Given the description of an element on the screen output the (x, y) to click on. 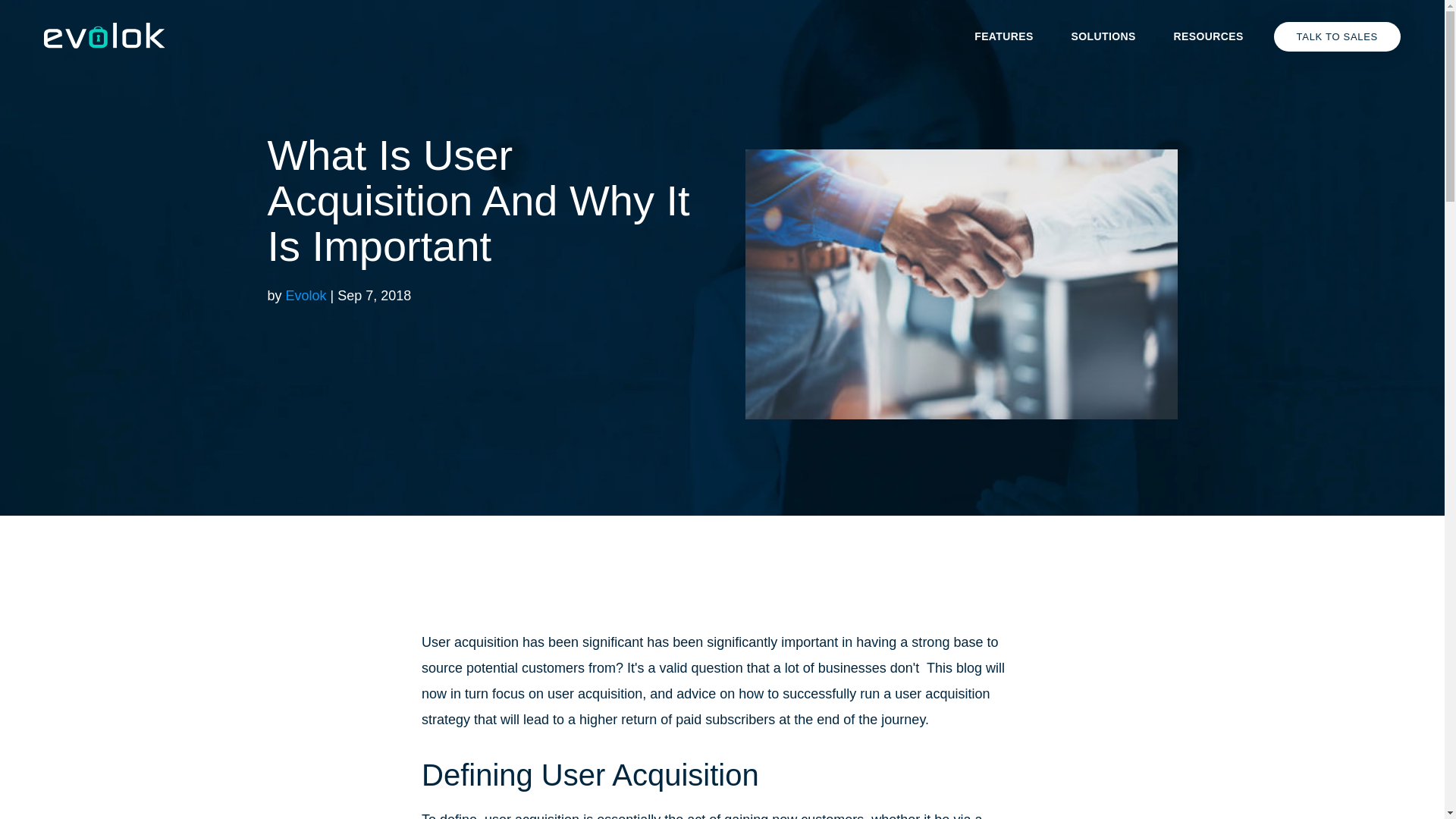
TALK TO SALES (1337, 36)
SOLUTIONS (1104, 35)
RESOURCES (1208, 35)
Evolok (305, 295)
FEATURES (1003, 35)
